Given the description of an element on the screen output the (x, y) to click on. 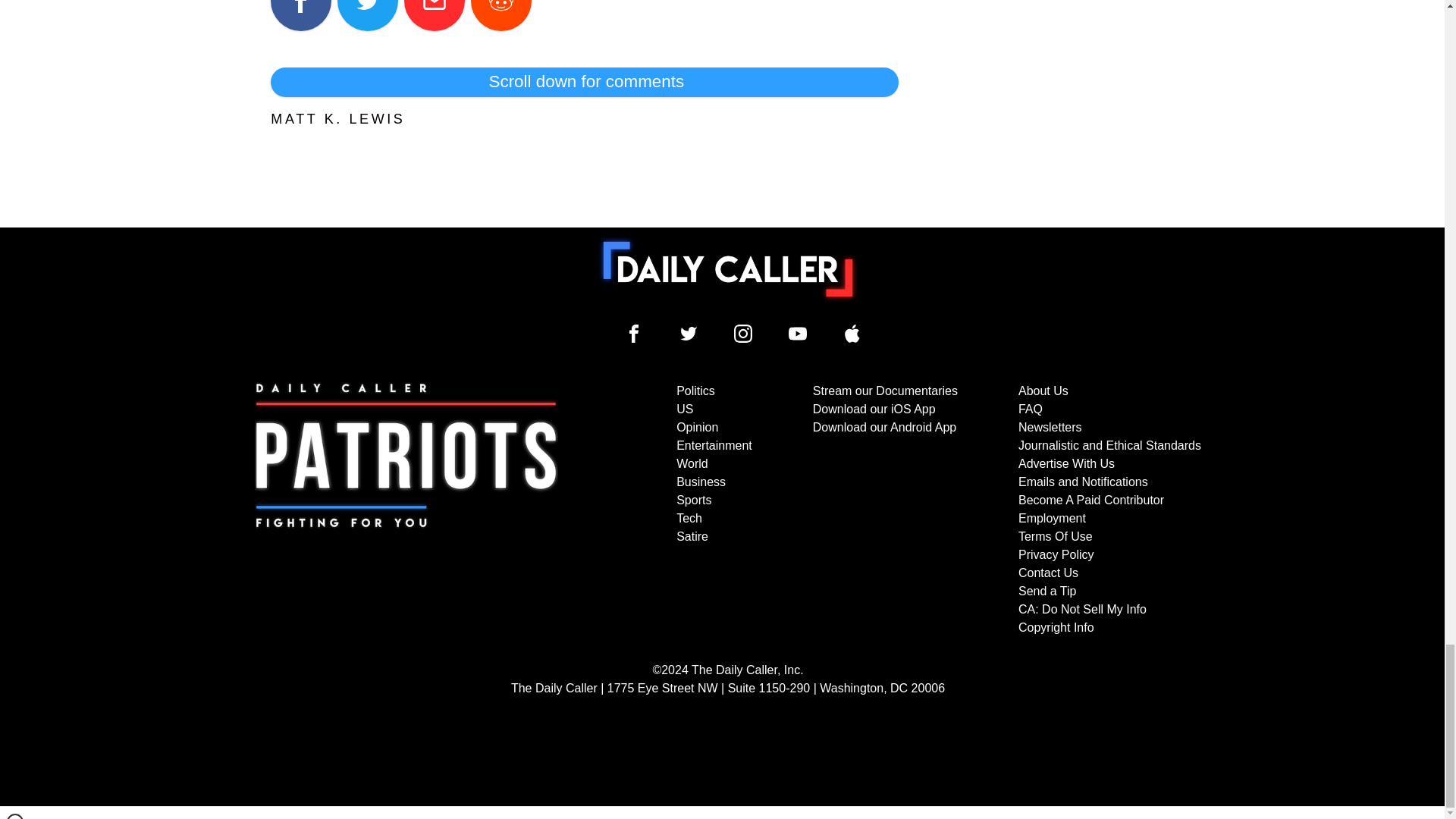
Daily Caller Facebook (633, 333)
Daily Caller YouTube (797, 333)
Daily Caller Twitter (688, 333)
Daily Caller Instagram (742, 333)
To home page (727, 268)
Subscribe to The Daily Caller (405, 509)
Scroll down for comments (584, 81)
Daily Caller YouTube (852, 333)
